Given the description of an element on the screen output the (x, y) to click on. 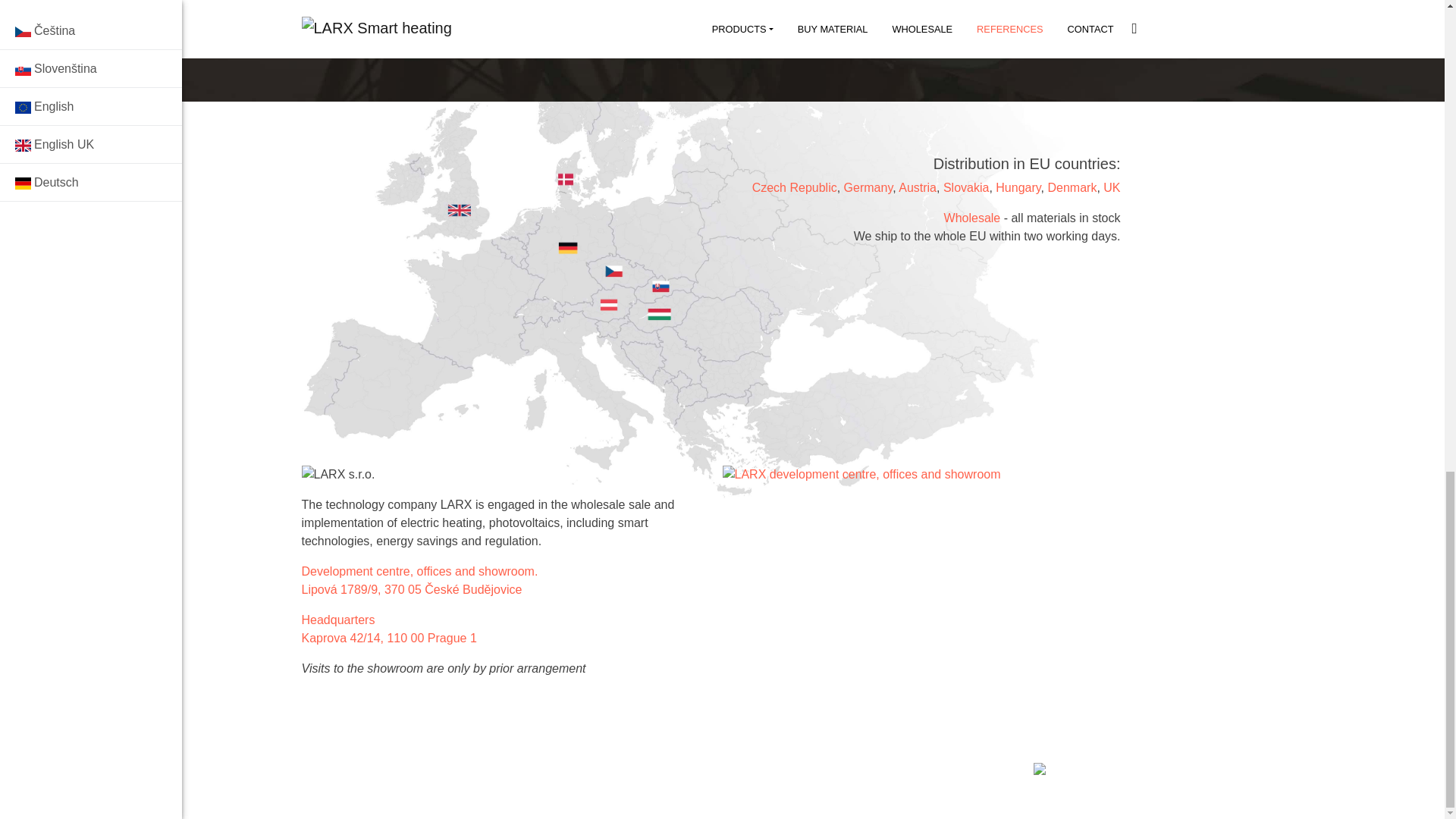
Slovakia (965, 187)
Hungary (1018, 187)
Austria (917, 187)
UK (1111, 187)
Czech Republic (794, 187)
Germany (868, 187)
Show on map (389, 637)
Denmark (1071, 187)
Show on map (411, 589)
